Given the description of an element on the screen output the (x, y) to click on. 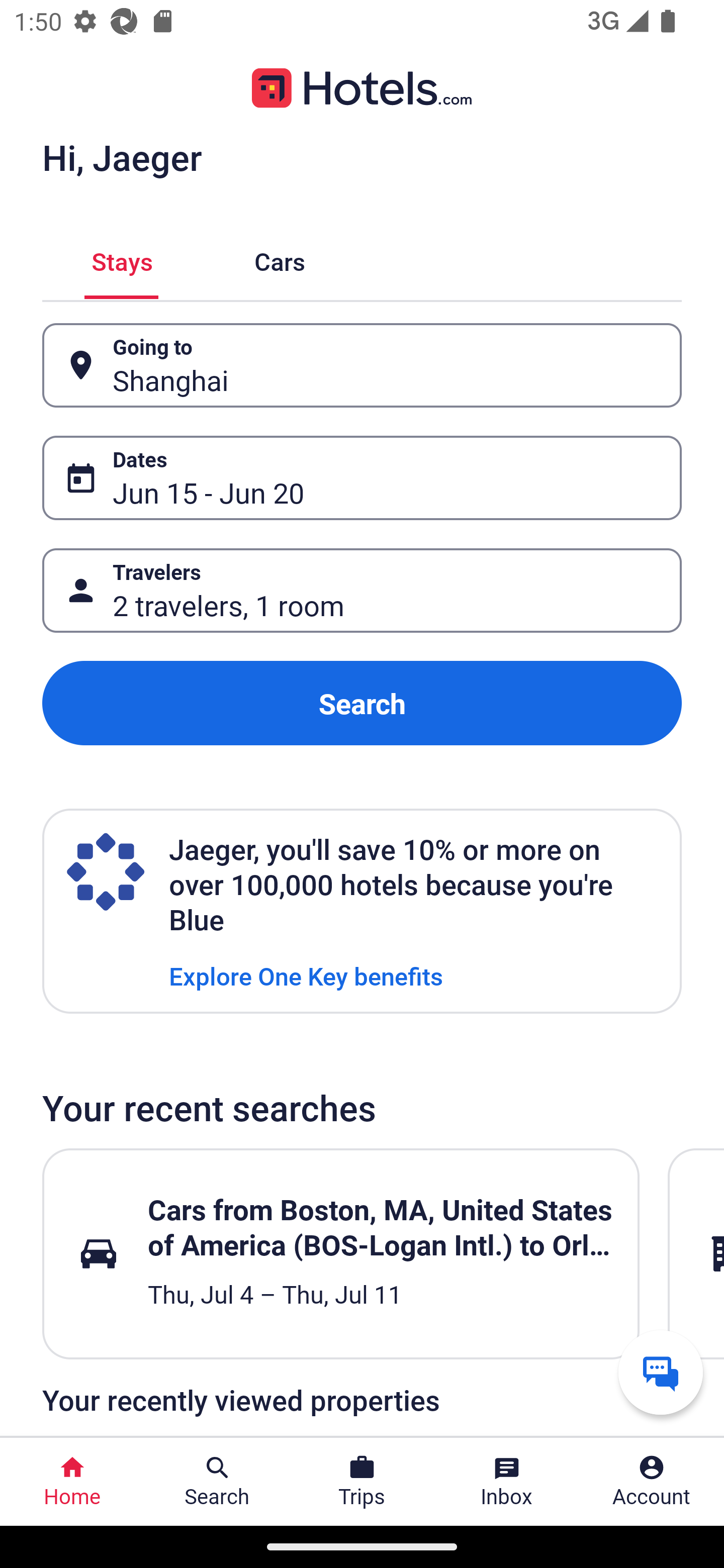
Hi, Jaeger (121, 156)
Cars (279, 259)
Going to Button Shanghai (361, 365)
Dates Button Jun 15 - Jun 20 (361, 477)
Travelers Button 2 travelers, 1 room (361, 590)
Search (361, 702)
Get help from a virtual agent (660, 1371)
Search Search Button (216, 1481)
Trips Trips Button (361, 1481)
Inbox Inbox Button (506, 1481)
Account Profile. Button (651, 1481)
